Given the description of an element on the screen output the (x, y) to click on. 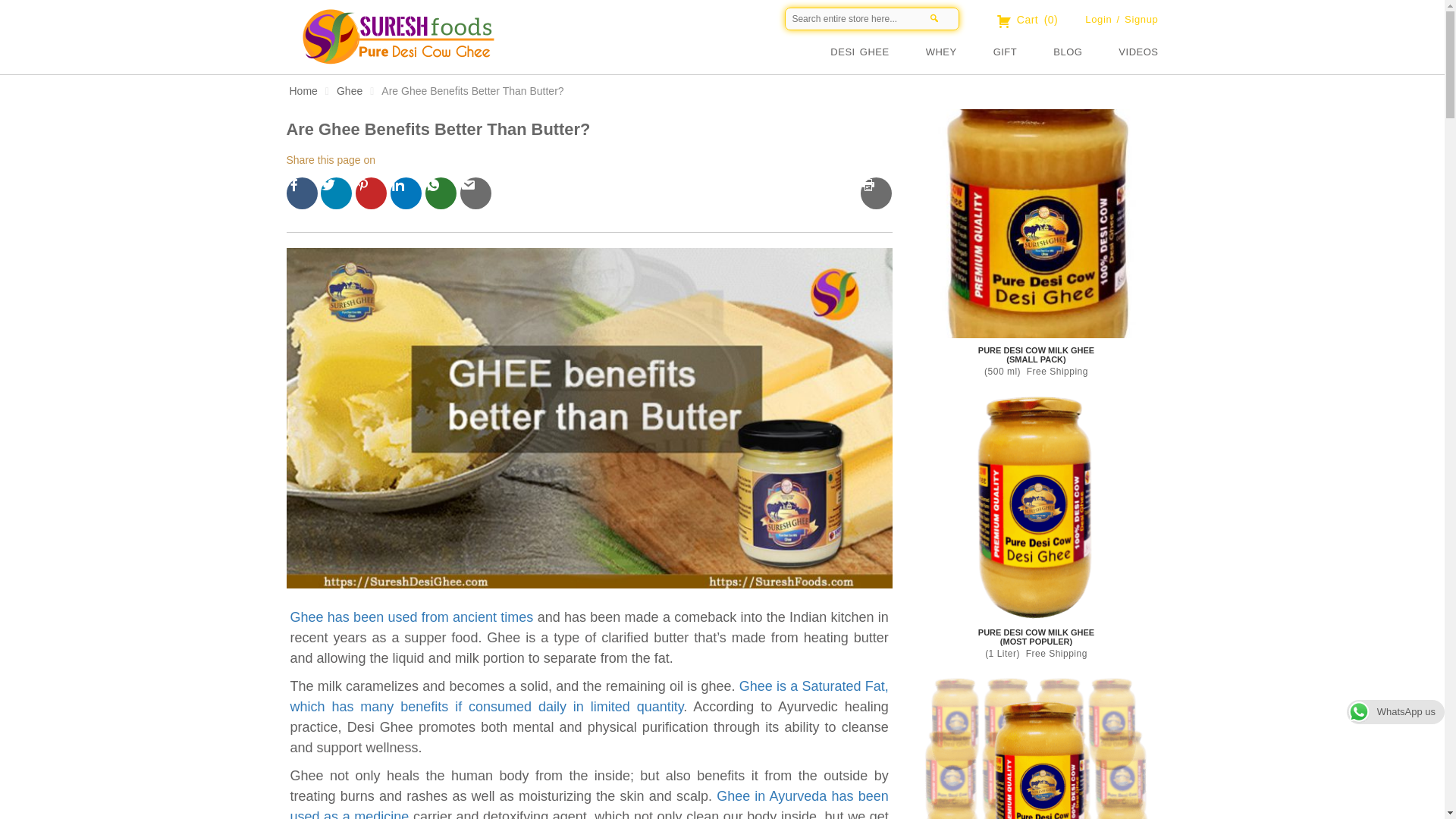
VIDEOS (1137, 51)
DESI GHEE (876, 51)
BLOG (1085, 51)
Ghee has been used from ancient times (410, 616)
GIFT (1023, 51)
Home (592, 49)
WHEY (959, 51)
Home (303, 91)
Pure Desi Cow Milk Ghee (1036, 223)
Pure Desi Cow Milk Ghee (1036, 505)
Ghee in Ayurveda has been used as a medicine (588, 803)
Ghee (349, 91)
Pure Desi Cow Milk Ghee Subscription (1036, 746)
